Given the description of an element on the screen output the (x, y) to click on. 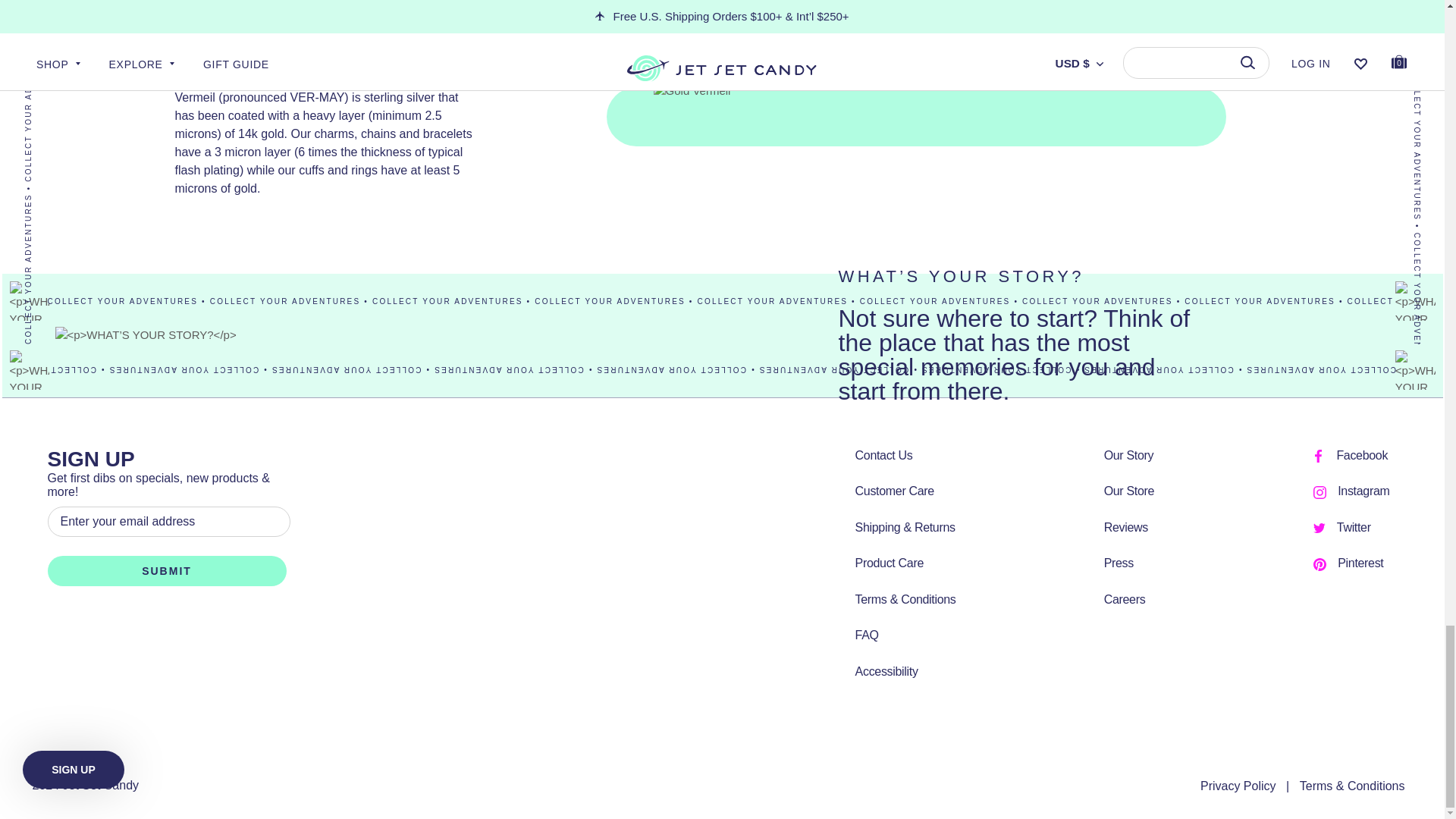
Twitter (1318, 528)
Instagram (1319, 492)
Pinterest (1319, 563)
